Given the description of an element on the screen output the (x, y) to click on. 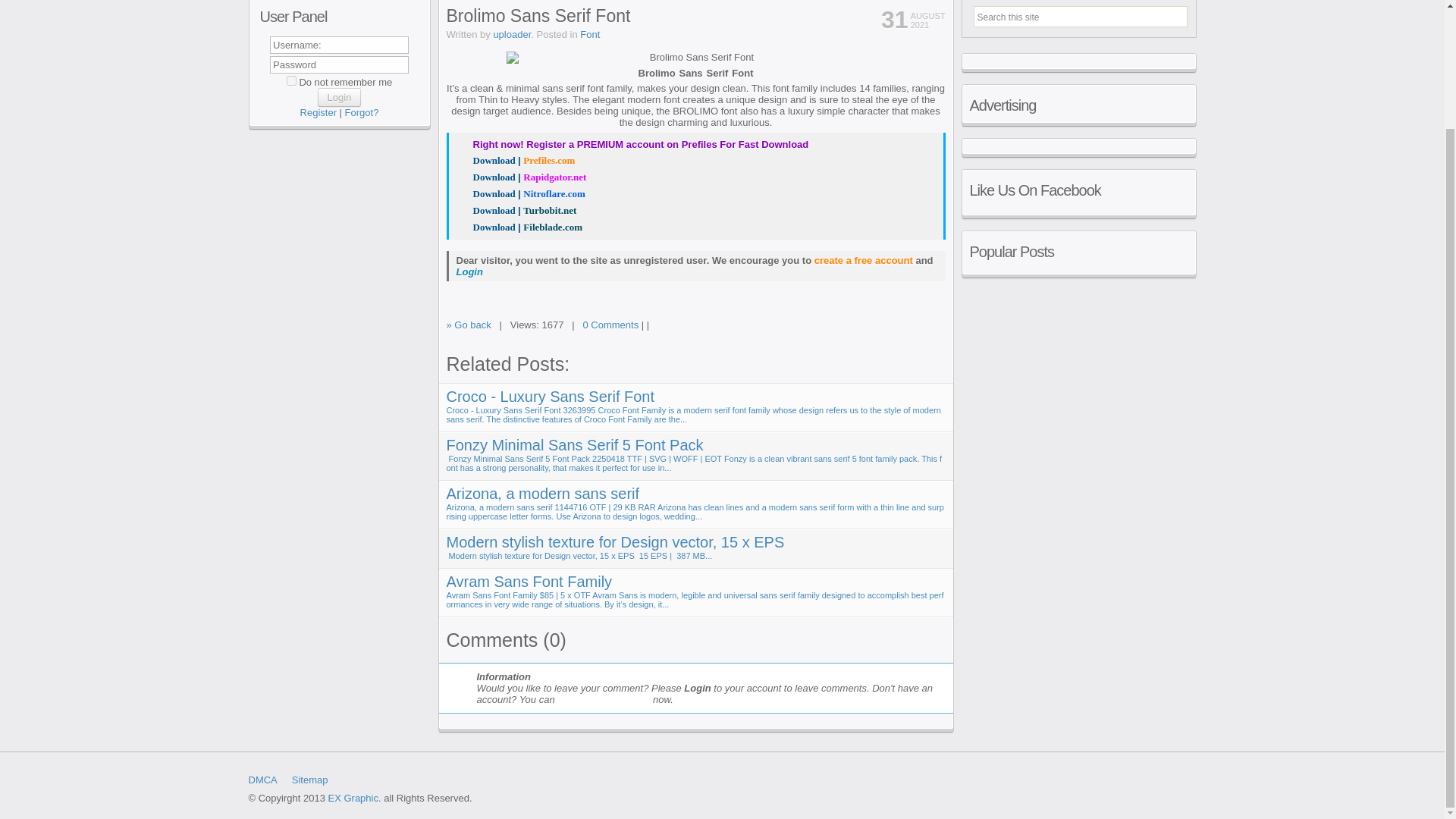
Brolimo Sans Serif Font (521, 193)
 Brolimo Sans Serif Font  (695, 57)
1 (291, 80)
Brolimo Sans Serif Font (520, 227)
Good (924, 327)
Brolimo Sans Serif Font (516, 210)
Poor (899, 327)
Login (339, 97)
Bad (886, 327)
Brolimo Sans Serif Font (516, 160)
Excellent (938, 327)
Search this site (1022, 15)
Fair (913, 327)
Brolimo Sans Serif Font (521, 177)
